Given the description of an element on the screen output the (x, y) to click on. 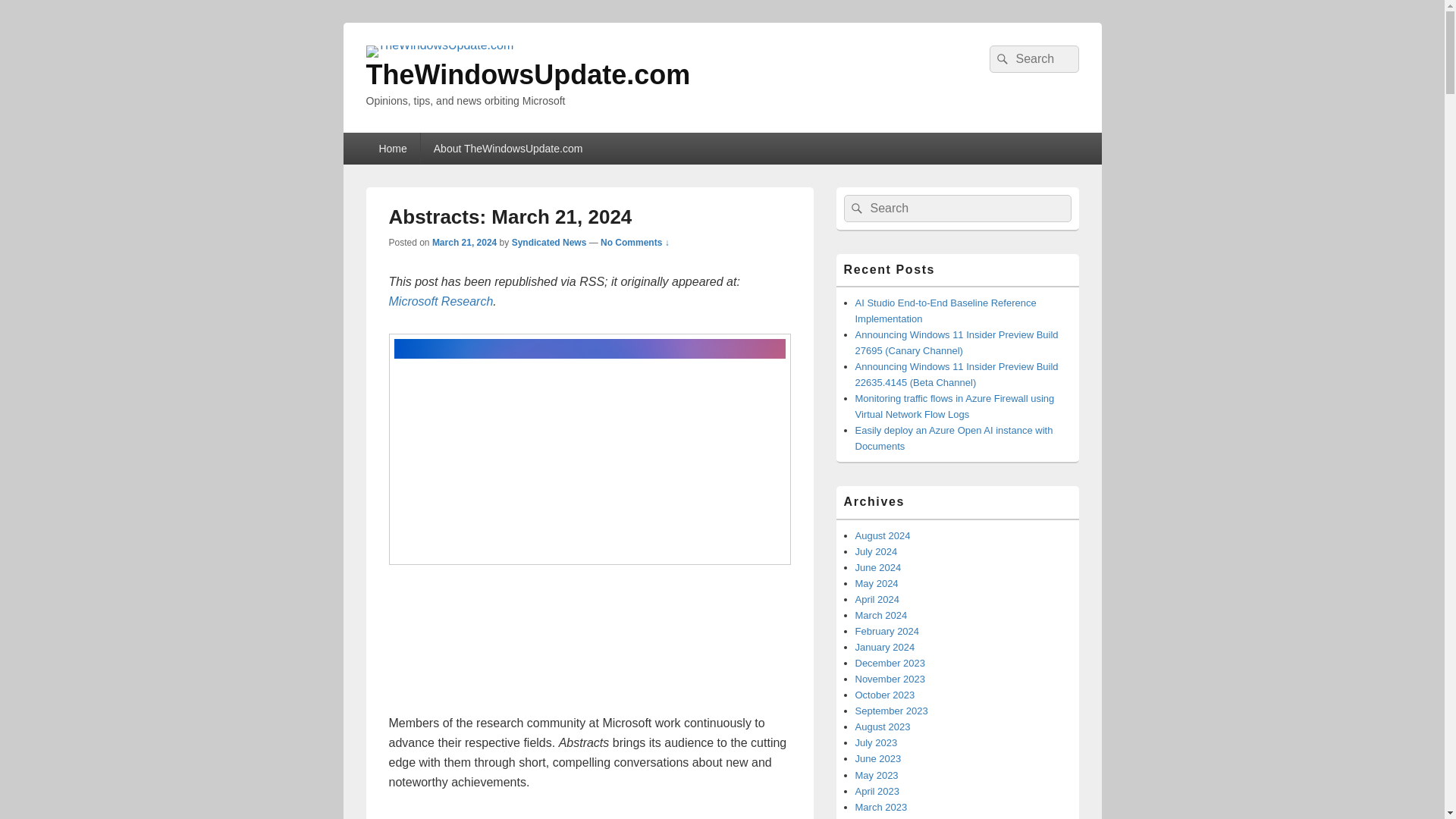
August 2024 (883, 535)
Syndicated News (549, 242)
9:00 AM (464, 242)
Microsoft Research (440, 300)
Home (392, 148)
AI Studio End-to-End Baseline Reference Implementation (946, 310)
View all posts by Syndicated News (549, 242)
TheWindowsUpdate.com (527, 74)
Easily deploy an Azure Open AI instance with Documents (954, 438)
Podcast Player (589, 646)
